Given the description of an element on the screen output the (x, y) to click on. 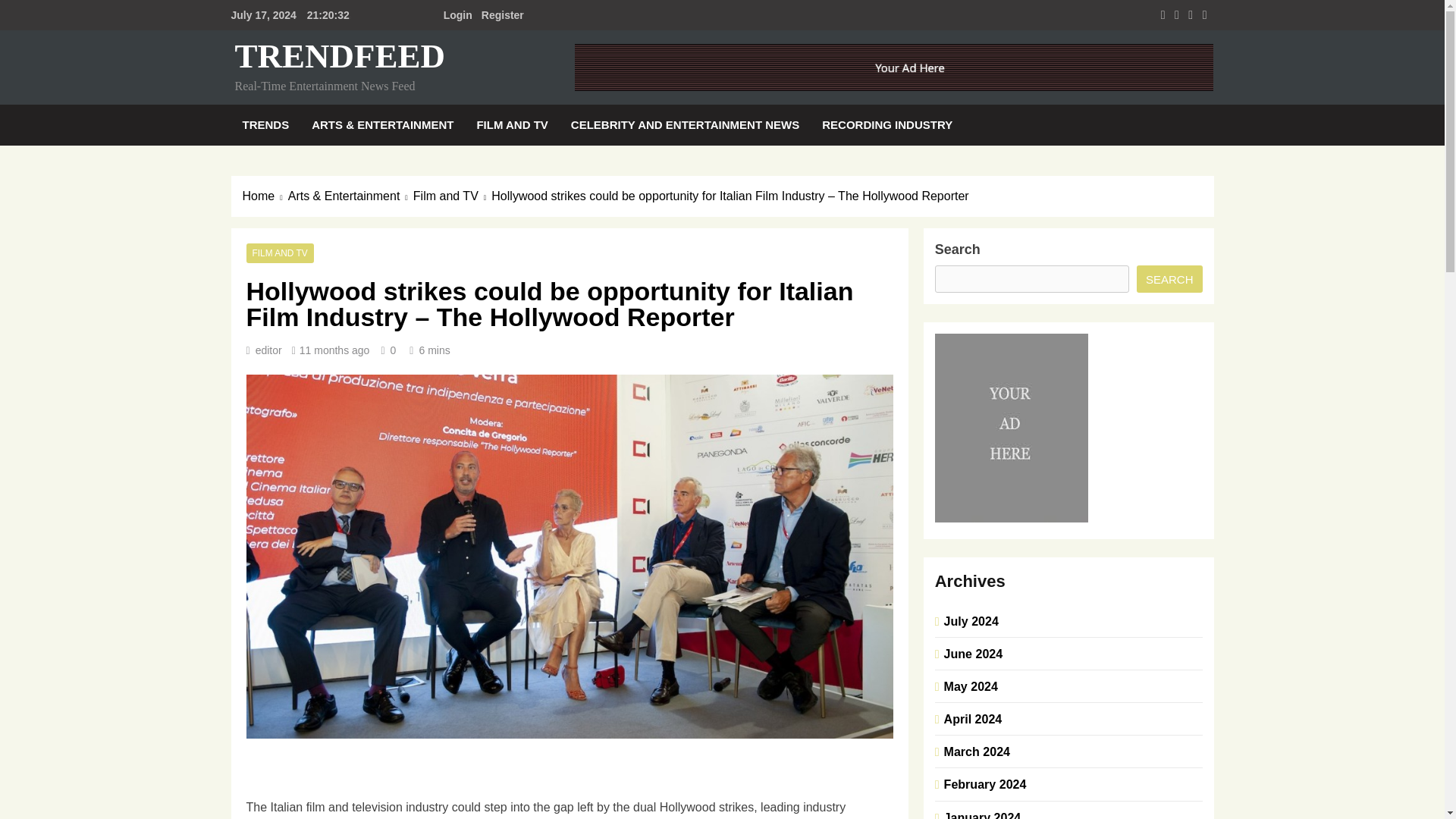
TRENDFEED (339, 55)
CELEBRITY AND ENTERTAINMENT NEWS (684, 124)
Register (502, 15)
RECORDING INDUSTRY (886, 124)
FILM AND TV (279, 253)
Film and TV (452, 196)
FILM AND TV (511, 124)
11 months ago (334, 349)
Login (458, 15)
TRENDS (264, 124)
Home (265, 196)
editor (269, 349)
